Given the description of an element on the screen output the (x, y) to click on. 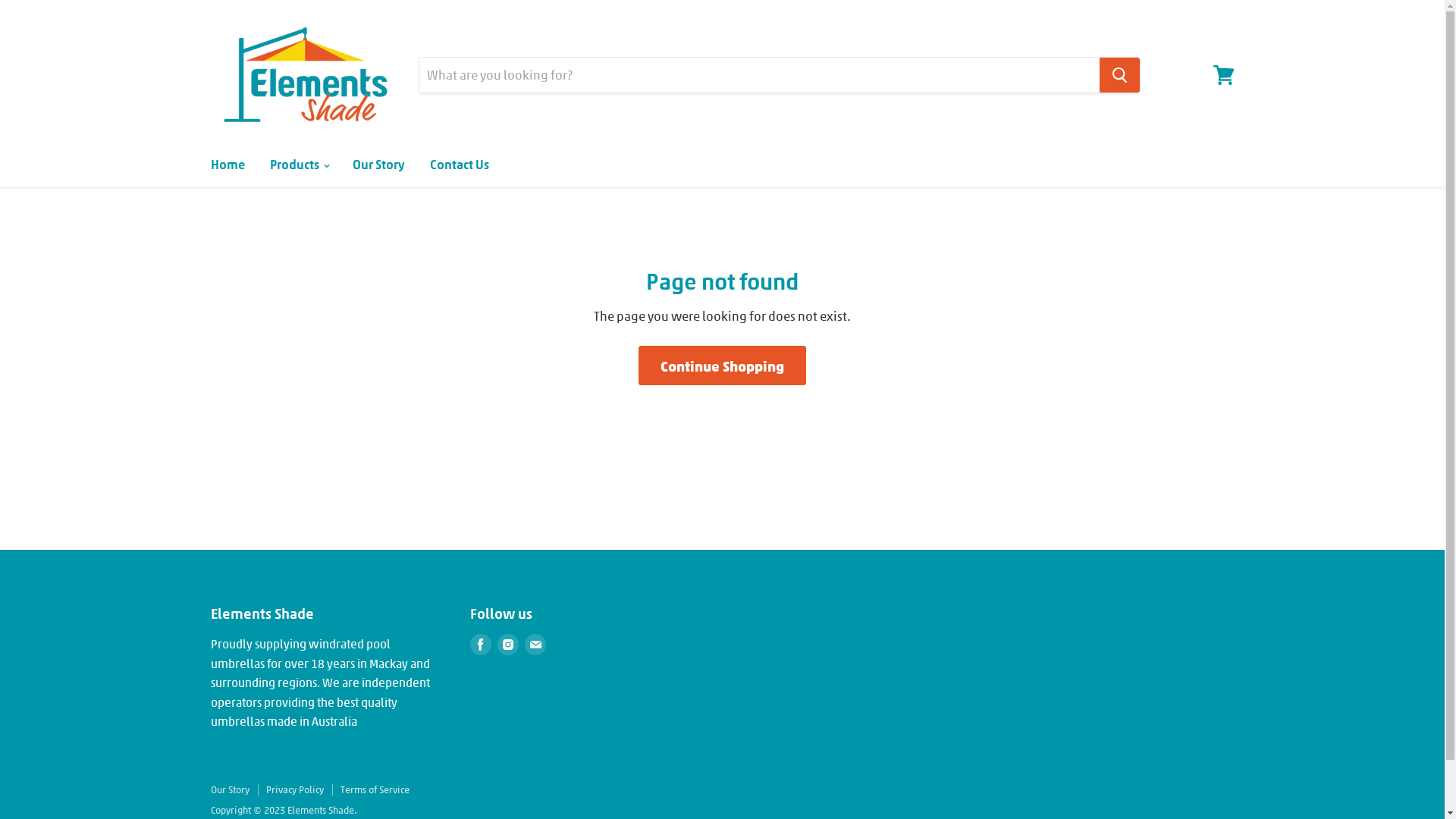
Our Story Element type: text (229, 789)
Find us on Instagram Element type: text (507, 644)
Contact Us Element type: text (459, 163)
View cart Element type: text (1223, 74)
Terms of Service Element type: text (373, 789)
Find us on Facebook Element type: text (480, 644)
Privacy Policy Element type: text (294, 789)
Find us on E-mail Element type: text (535, 644)
Continue Shopping Element type: text (722, 365)
Our Story Element type: text (378, 163)
Home Element type: text (226, 163)
Products Element type: text (297, 163)
